Given the description of an element on the screen output the (x, y) to click on. 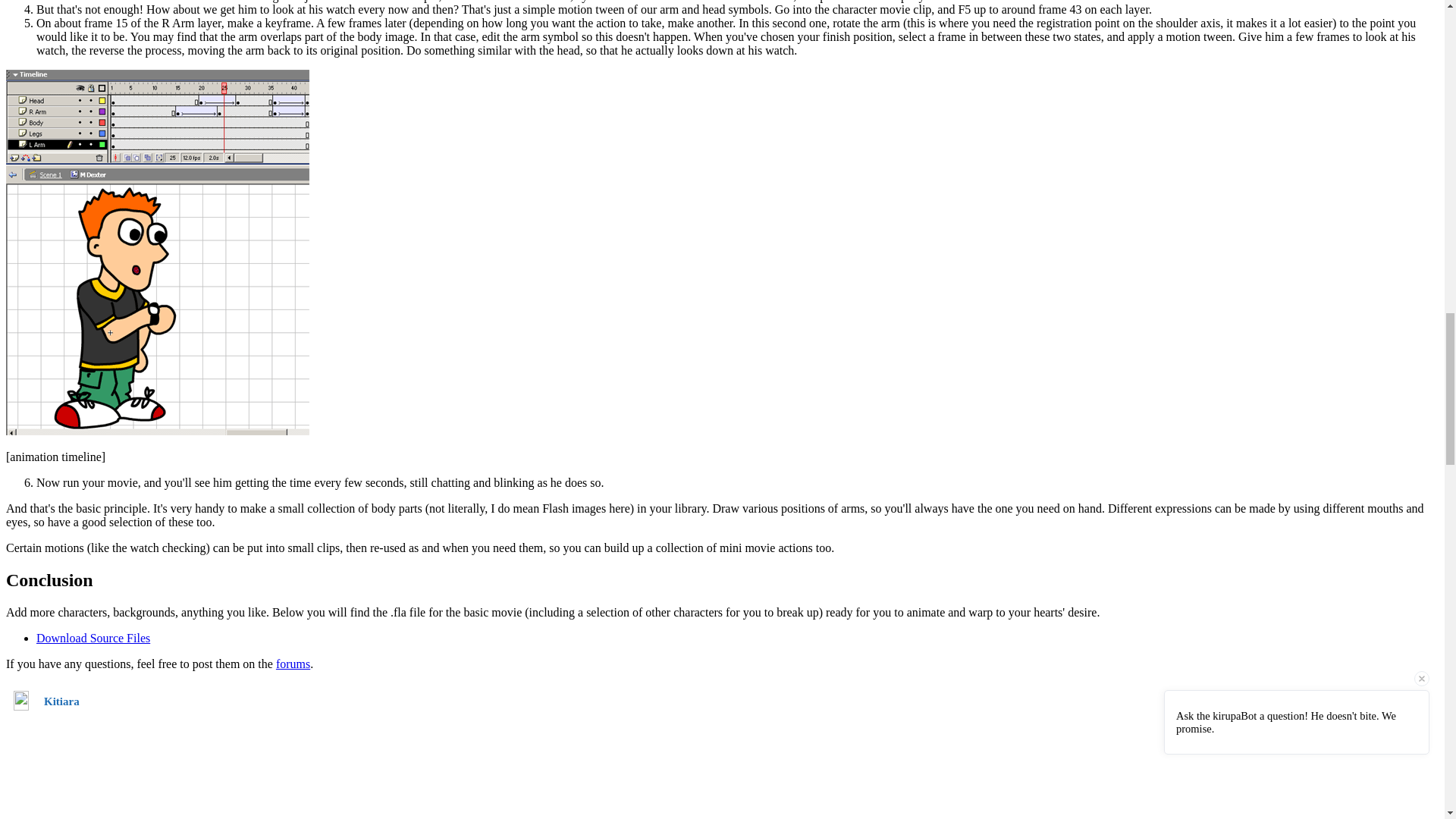
forums (293, 662)
Download Source Files (92, 636)
